Given the description of an element on the screen output the (x, y) to click on. 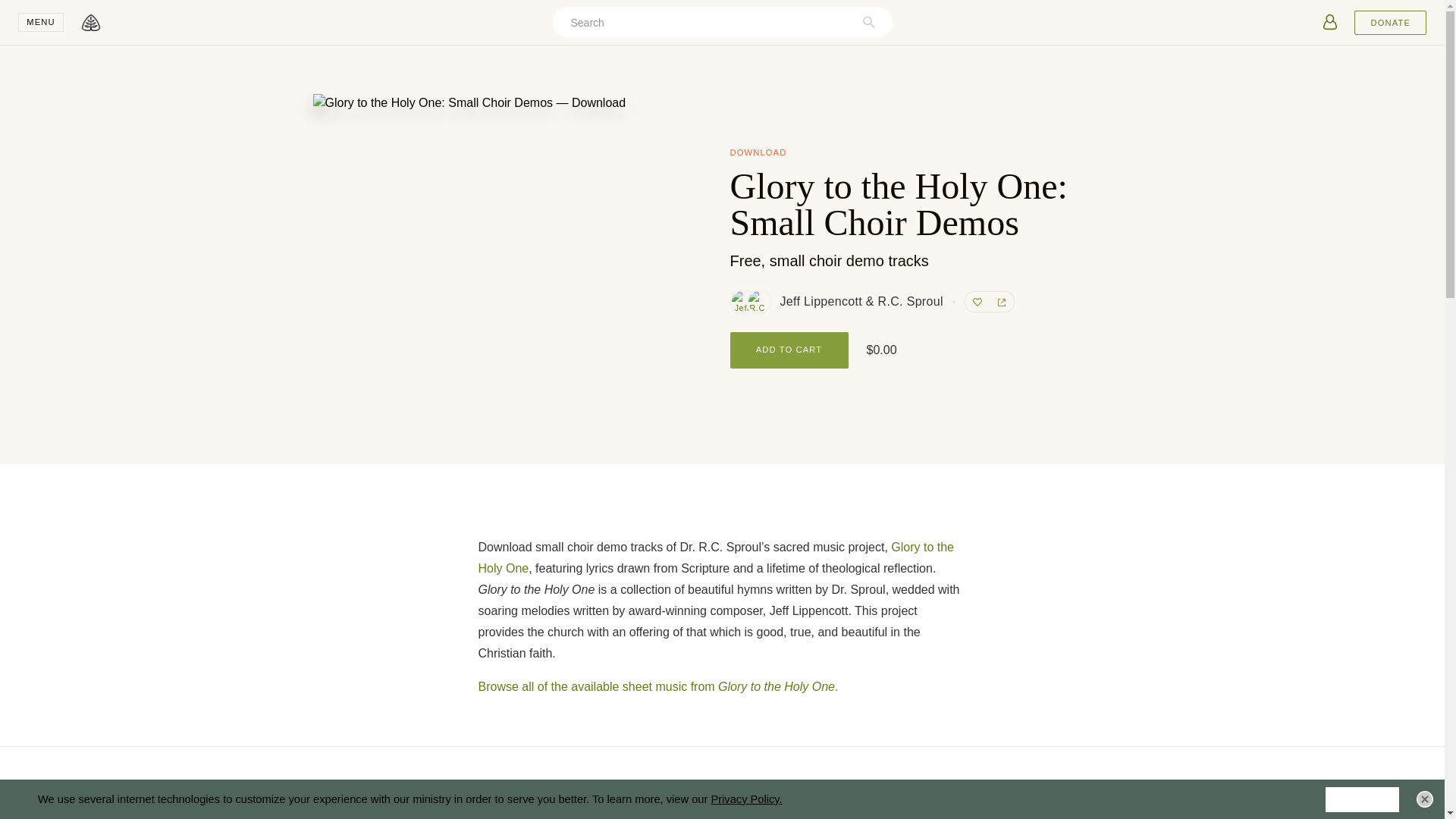
MENU (40, 22)
Close (1424, 799)
Jeff Lippencott (741, 301)
Accept (1361, 799)
Privacy Policy. (745, 799)
Accept (1361, 799)
R.C. Sproul (757, 301)
